Given the description of an element on the screen output the (x, y) to click on. 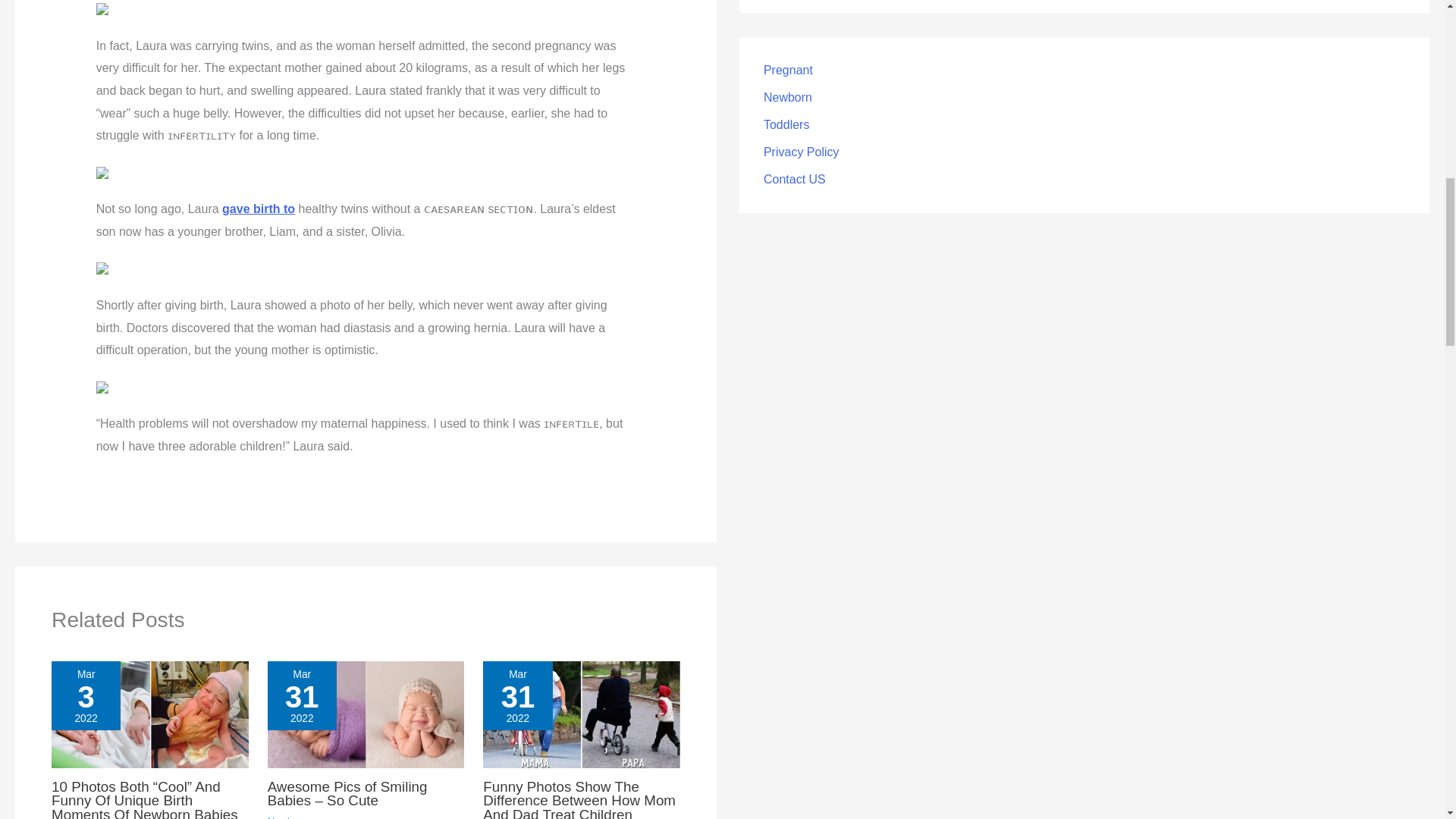
Newborn (287, 817)
gave birth to (258, 208)
